Given the description of an element on the screen output the (x, y) to click on. 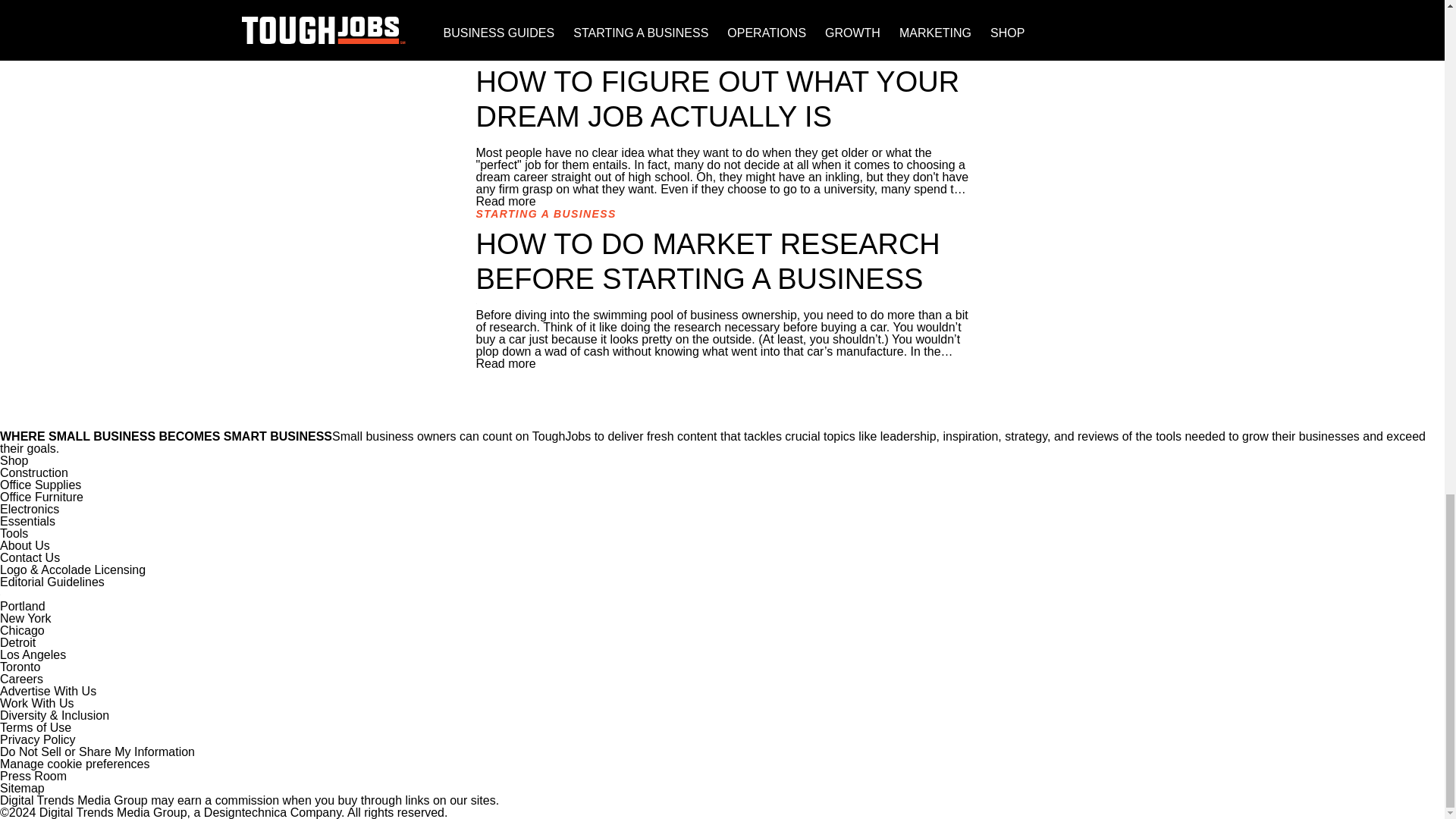
Construction (34, 472)
STARTING A BUSINESS (545, 214)
Office Supplies (40, 484)
Read more (505, 201)
Shop (13, 460)
Read more (505, 38)
Read more (505, 363)
GROWTH (503, 51)
